Given the description of an element on the screen output the (x, y) to click on. 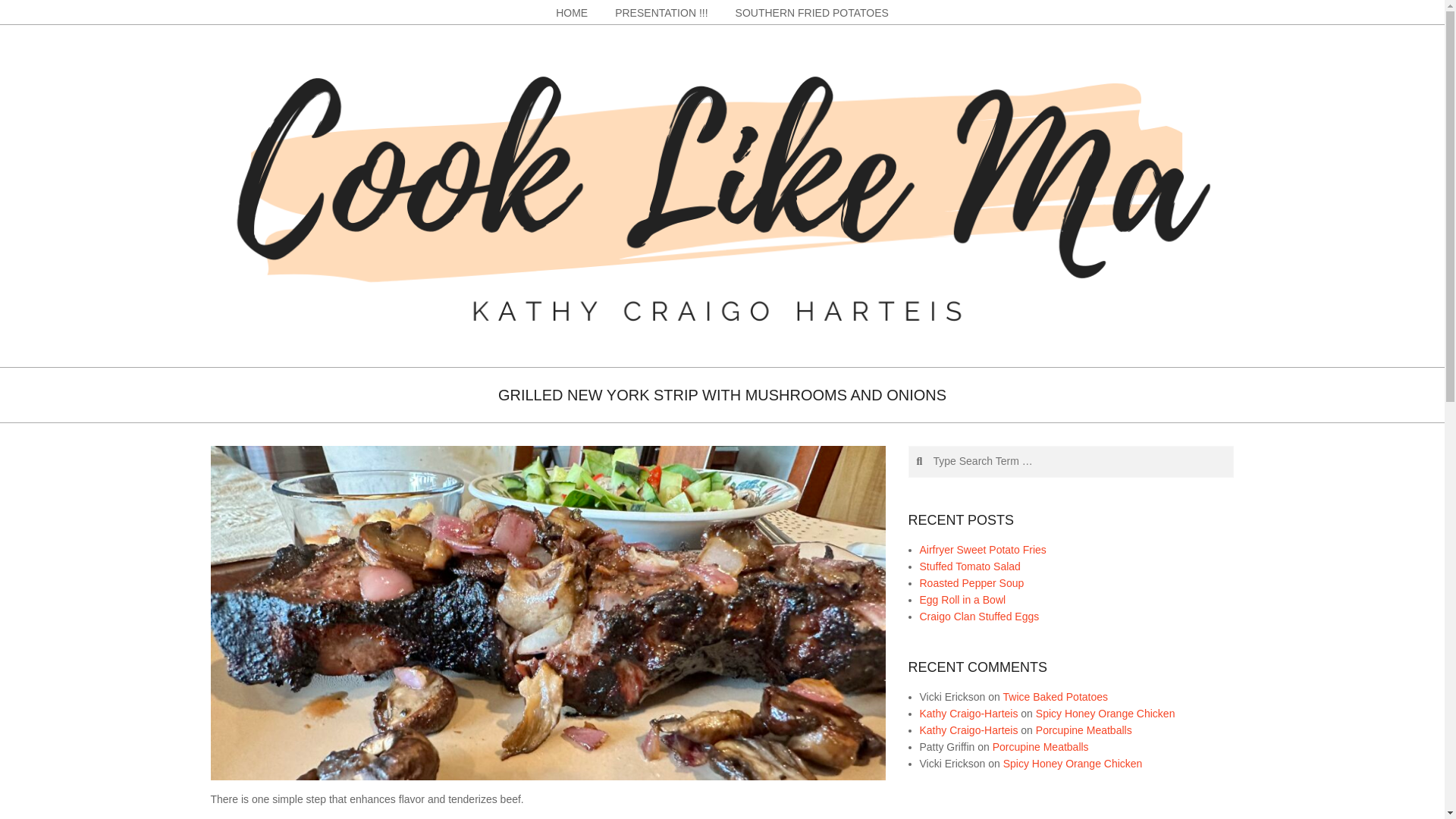
Egg Roll in a Bowl (962, 599)
Spicy Honey Orange Chicken (1104, 712)
Porcupine Meatballs (1083, 729)
Spicy Honey Orange Chicken (1072, 762)
Craigo Clan Stuffed Eggs (978, 616)
PRESENTATION !!! (660, 12)
HOME (571, 12)
Airfryer Sweet Potato Fries (981, 549)
SOUTHERN FRIED POTATOES (812, 12)
Stuffed Tomato Salad (969, 566)
